Given the description of an element on the screen output the (x, y) to click on. 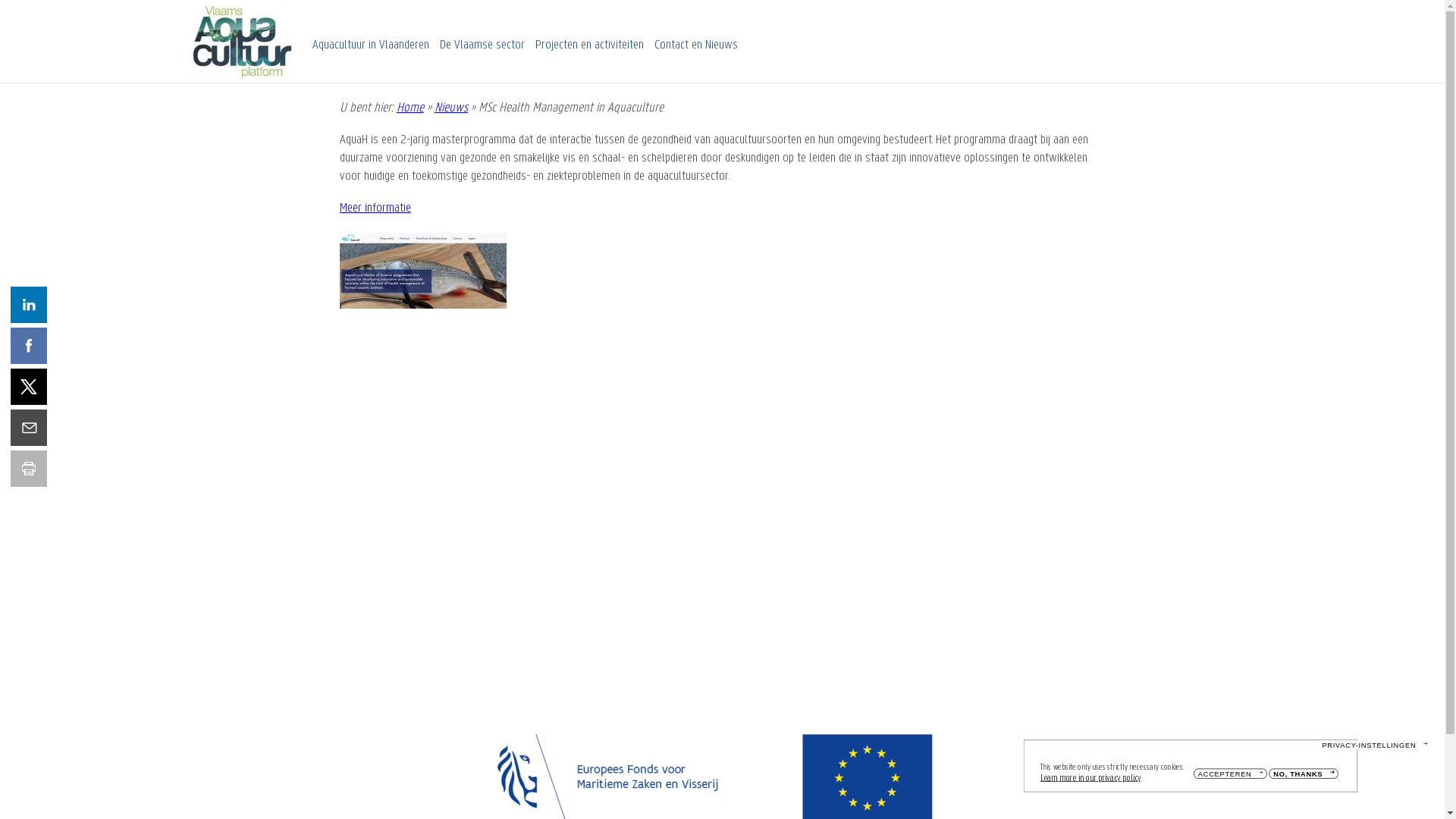
Home Element type: text (409, 107)
NO, THANKS Element type: text (1318, 775)
Nieuws Element type: text (450, 107)
Overslaan en naar de inhoud gaan Element type: text (0, 0)
Verstuur een link naar deze pagina via mail. Element type: hover (28, 427)
Meer informatie Element type: text (375, 207)
Learn more in our privacy policy Element type: text (1112, 780)
Deel deze pagina op Twitter. Element type: hover (28, 386)
Druk deze pagina af op uw printer. Element type: hover (28, 468)
ACCEPTEREN Element type: text (1245, 775)
Deel deze pagina op LinkedIn. Element type: hover (28, 304)
Deel deze pagina op Facebook. Element type: hover (28, 345)
